Given the description of an element on the screen output the (x, y) to click on. 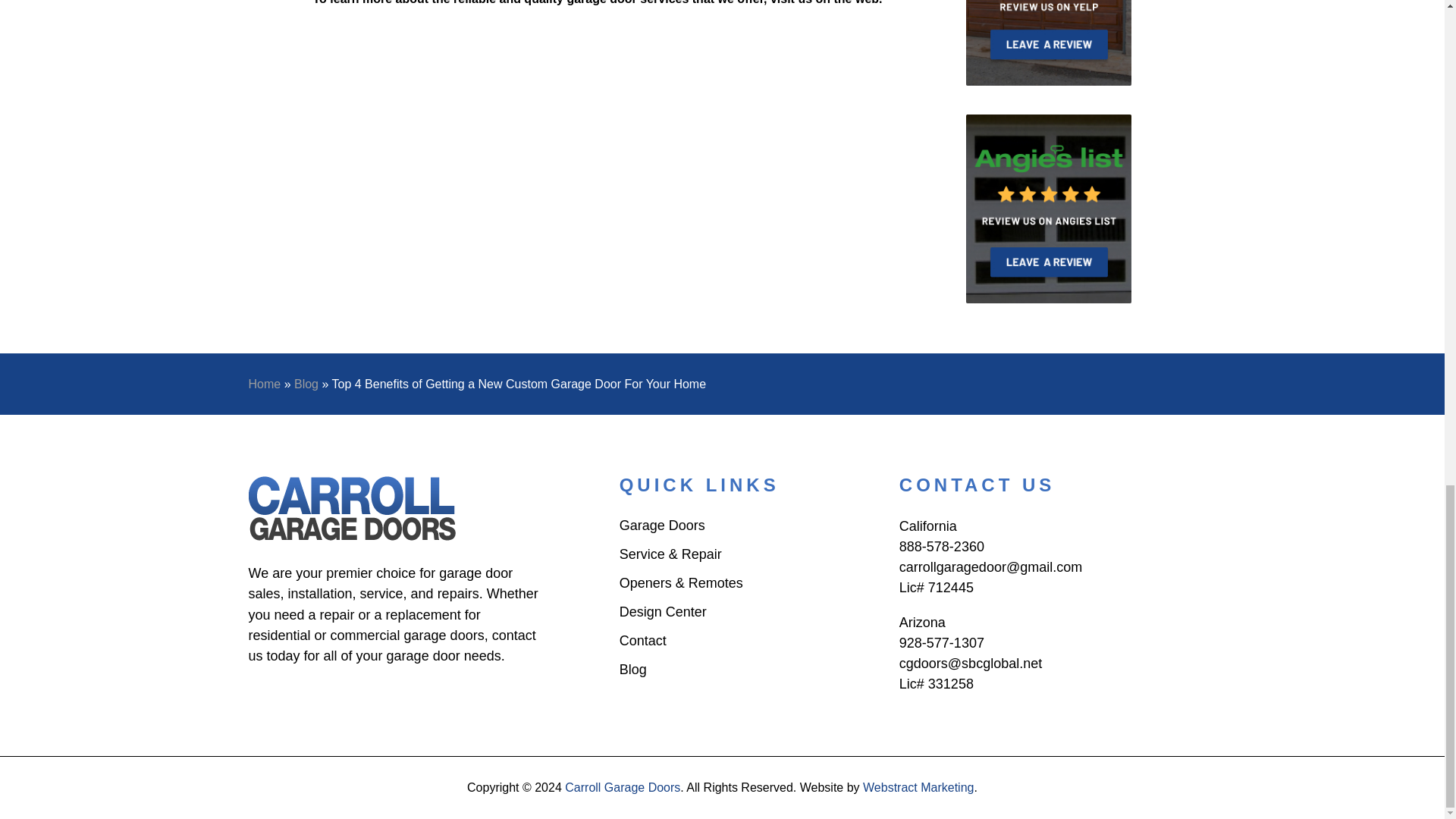
Contact (643, 643)
Carroll Garage Doors (621, 787)
Home (264, 383)
Webstract Marketing (918, 787)
Blog (633, 672)
Carroll Garage Doors (352, 507)
Design Center (663, 614)
Garage Doors (662, 528)
Blog (306, 383)
Website Design Los Angeles CA (918, 787)
